Given the description of an element on the screen output the (x, y) to click on. 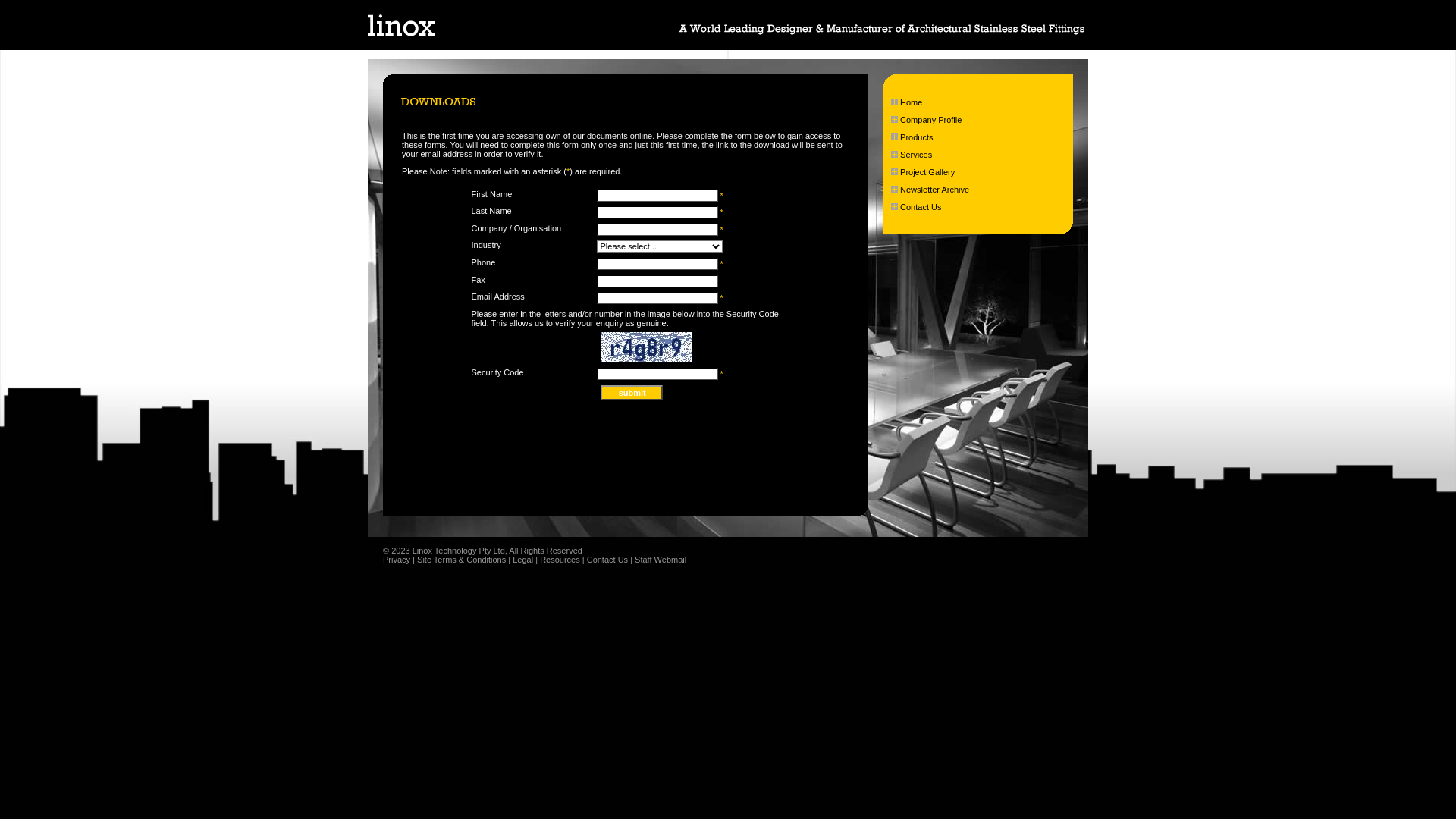
Resources Element type: text (559, 559)
Contact Us Element type: text (920, 206)
Legal Element type: text (522, 559)
Home Element type: text (911, 101)
submit Element type: text (631, 392)
Staff Webmail Element type: text (660, 559)
Contact Us Element type: text (606, 559)
Services Element type: text (915, 154)
Company Profile Element type: text (930, 119)
Project Gallery Element type: text (927, 171)
Site Terms & Conditions Element type: text (461, 559)
Newsletter Archive Element type: text (934, 189)
Products Element type: text (916, 136)
Privacy Element type: text (396, 559)
